Given the description of an element on the screen output the (x, y) to click on. 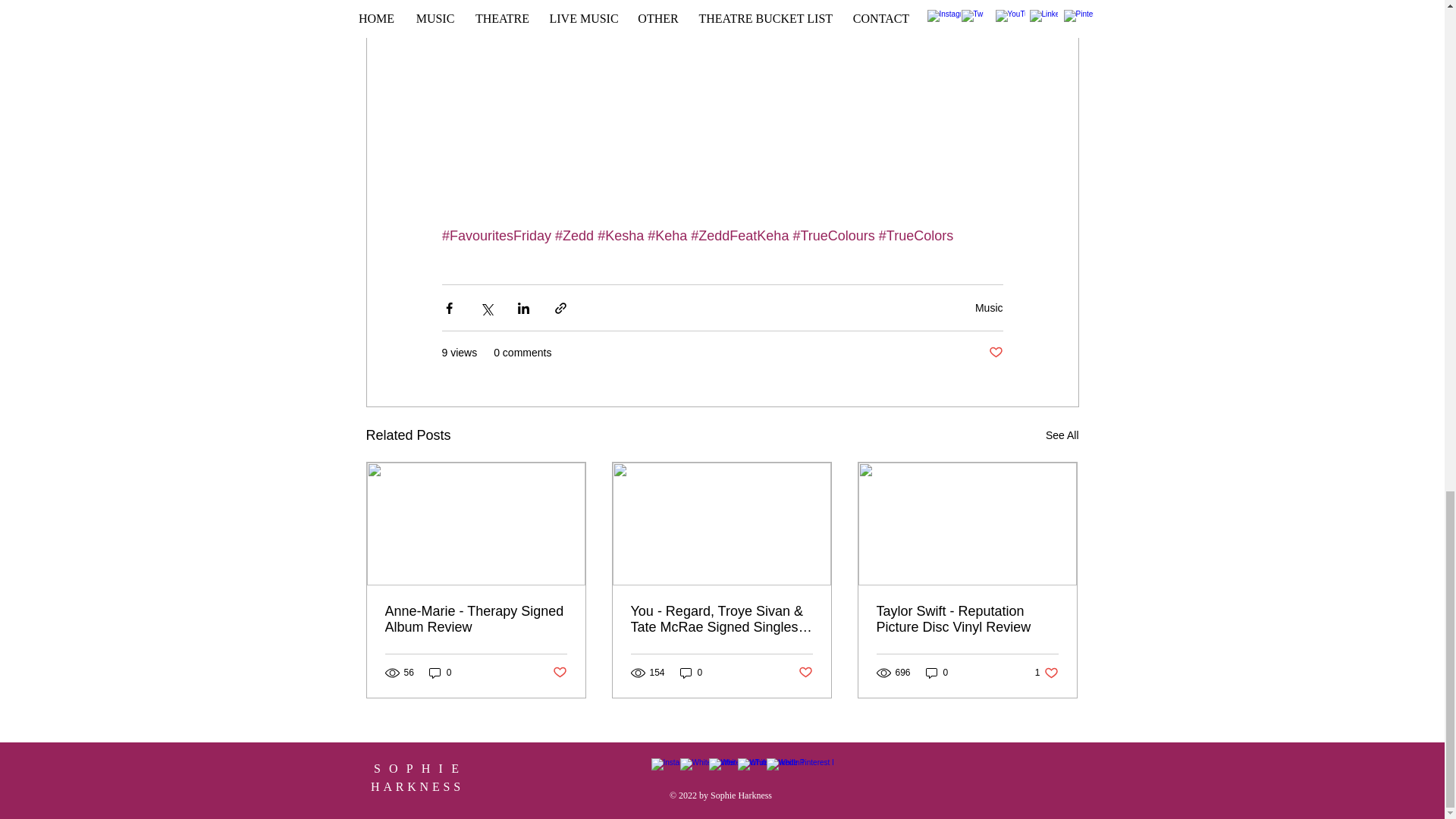
Anne-Marie - Therapy Signed Album Review (476, 619)
See All (1061, 435)
Post not marked as liked (995, 352)
Music (989, 307)
Post not marked as liked (558, 672)
0 (440, 672)
